Given the description of an element on the screen output the (x, y) to click on. 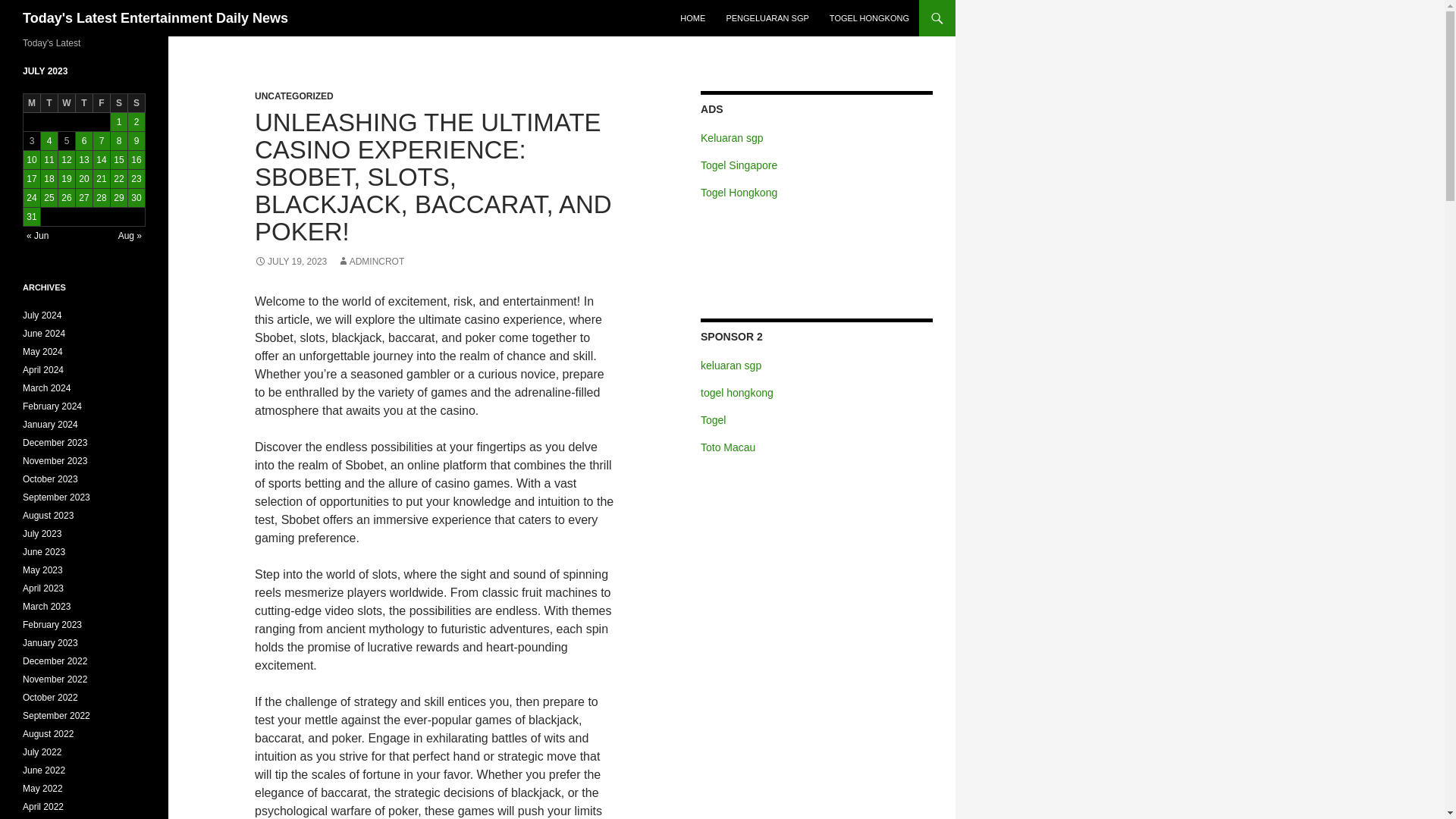
13 (84, 159)
keluaran sgp (730, 365)
Keluaran sgp (731, 137)
1 (119, 122)
Sunday (136, 103)
Today's Latest Entertainment Daily News (155, 18)
Tuesday (49, 103)
2 (136, 122)
Wednesday (66, 103)
Thursday (84, 103)
8 (119, 140)
Toto Macau (727, 447)
PENGELUARAN SGP (766, 18)
11 (49, 159)
21 (101, 178)
